Given the description of an element on the screen output the (x, y) to click on. 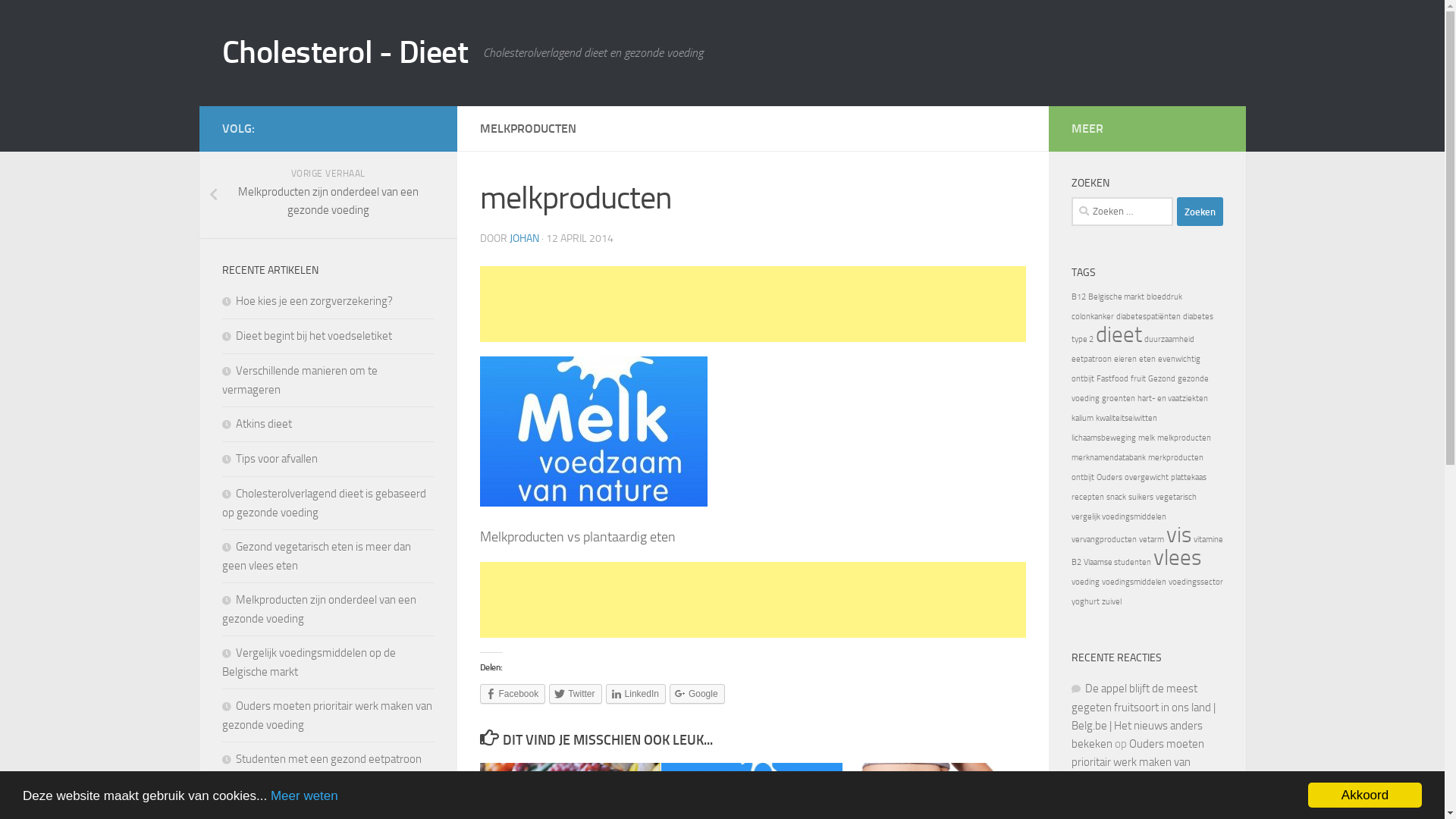
Vlaamse studenten Element type: text (1116, 562)
Gezond Element type: text (1161, 378)
Studenten met een gezond eetpatroon presteren beter Element type: text (320, 768)
merkproducten Element type: text (1175, 457)
Ouders moeten prioritair werk maken van gezonde voeding Element type: text (326, 715)
Dieet begint bij het voedseletiket Element type: text (306, 335)
Facebook Element type: text (512, 693)
gezonde voeding Element type: text (1139, 388)
Advertisement Element type: hover (752, 304)
vegetarisch Element type: text (1175, 497)
ontbijt Element type: text (1081, 477)
snack Element type: text (1115, 497)
Google Element type: text (696, 693)
diabetes type 2 Element type: text (1141, 327)
suikers Element type: text (1140, 497)
voedingssector Element type: text (1194, 581)
duurzaamheid Element type: text (1168, 339)
Atkins dieet Element type: text (256, 423)
yoghurt Element type: text (1084, 601)
Hoe kies je een zorgverzekering? Element type: text (306, 300)
eetpatroon Element type: text (1090, 359)
Ouders moeten prioritair werk maken van gezonde voeding Element type: text (1136, 762)
overgewicht Element type: text (1145, 477)
Advertisement Element type: hover (752, 599)
melkproducten Element type: text (1184, 437)
eieren Element type: text (1124, 359)
colonkanker Element type: text (1091, 316)
Vergelijk voedingsmiddelen op de Belgische markt Element type: text (308, 662)
Cholesterolverlagend dieet is gebaseerd op gezonde voeding Element type: text (323, 502)
Skip to content Element type: text (60, 21)
Twitter Element type: text (575, 693)
vetarm Element type: text (1151, 539)
Fastfood Element type: text (1112, 378)
vlees Element type: text (1176, 557)
Belgische markt Element type: text (1115, 296)
JOHAN Element type: text (524, 238)
hart- en vaatziekten Element type: text (1172, 398)
Ouders Element type: text (1109, 477)
Verschillende manieren om te vermageren Element type: text (298, 380)
kwaliteitseiwitten Element type: text (1125, 418)
eten Element type: text (1147, 359)
Akkoord Element type: text (1364, 794)
kalium Element type: text (1081, 418)
LinkedIn Element type: text (635, 693)
Melkproducten zijn onderdeel van een gezonde voeding Element type: text (318, 609)
B12 Element type: text (1077, 296)
Zoeken Element type: text (1199, 211)
Gezond vegetarisch eten is meer dan geen vlees eten Element type: text (315, 555)
vervangproducten Element type: text (1102, 539)
merknamendatabank Element type: text (1107, 457)
vis Element type: text (1178, 534)
evenwichtig ontbijt Element type: text (1134, 368)
vitamine B2 Element type: text (1146, 550)
Meer weten Element type: text (304, 795)
groenten Element type: text (1117, 398)
plattekaas Element type: text (1188, 477)
zuivel Element type: text (1110, 601)
lichaamsbeweging Element type: text (1102, 437)
voedingsmiddelen Element type: text (1133, 581)
bloeddruk Element type: text (1164, 296)
Tips voor afvallen Element type: text (268, 458)
recepten Element type: text (1086, 497)
Cholesterol - Dieet Element type: text (344, 52)
fruit Element type: text (1137, 378)
voeding Element type: text (1084, 581)
dieet Element type: text (1118, 334)
vergelijk voedingsmiddelen Element type: text (1117, 516)
melk Element type: text (1145, 437)
